Given the description of an element on the screen output the (x, y) to click on. 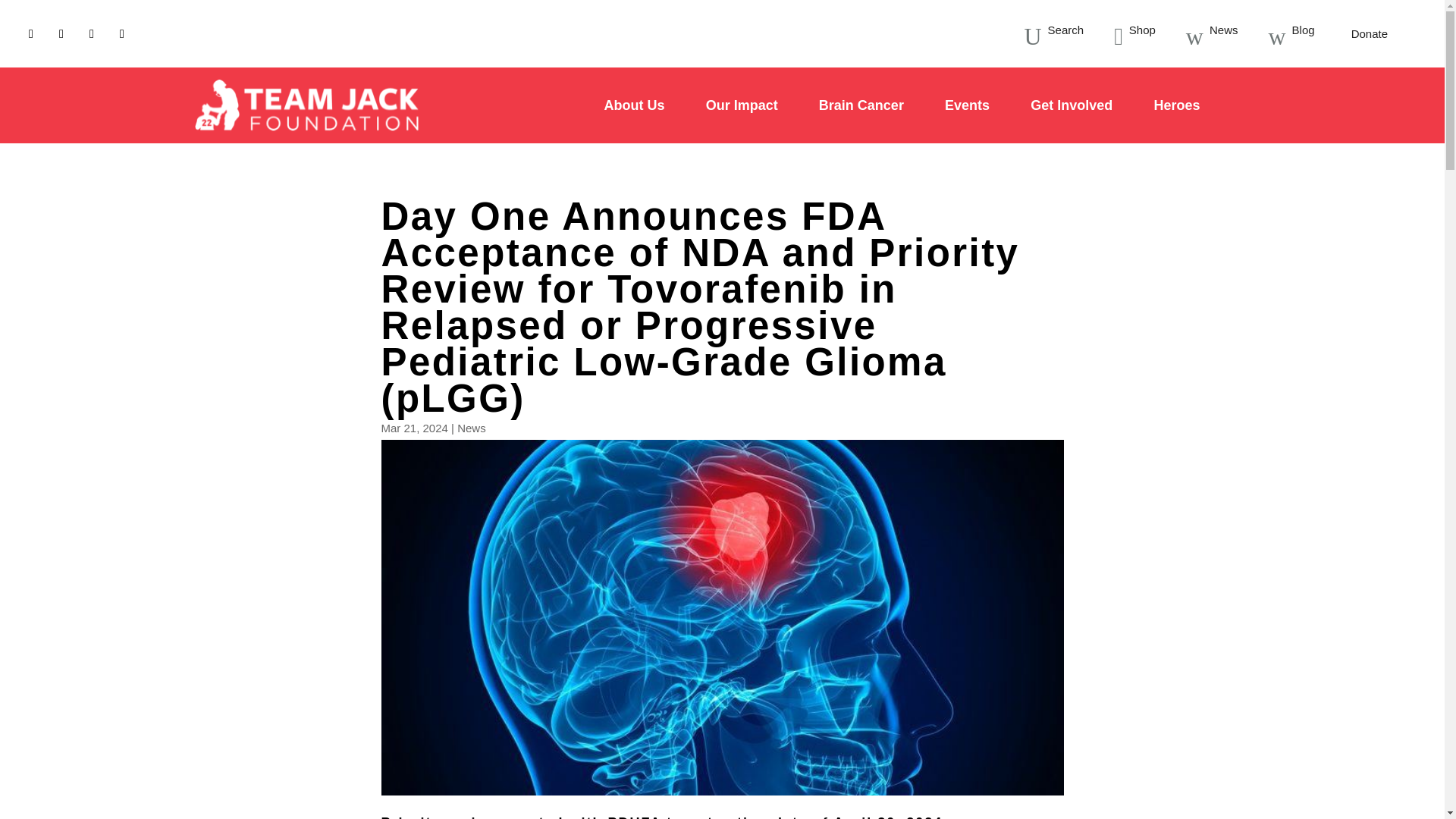
Follow on Instagram (91, 33)
Follow on Youtube (121, 33)
Brain Cancer (861, 121)
Follow on Facebook (30, 33)
Follow on X (61, 33)
Get Involved (1071, 121)
Our Impact (741, 121)
Events (967, 121)
About Us (633, 121)
